Given the description of an element on the screen output the (x, y) to click on. 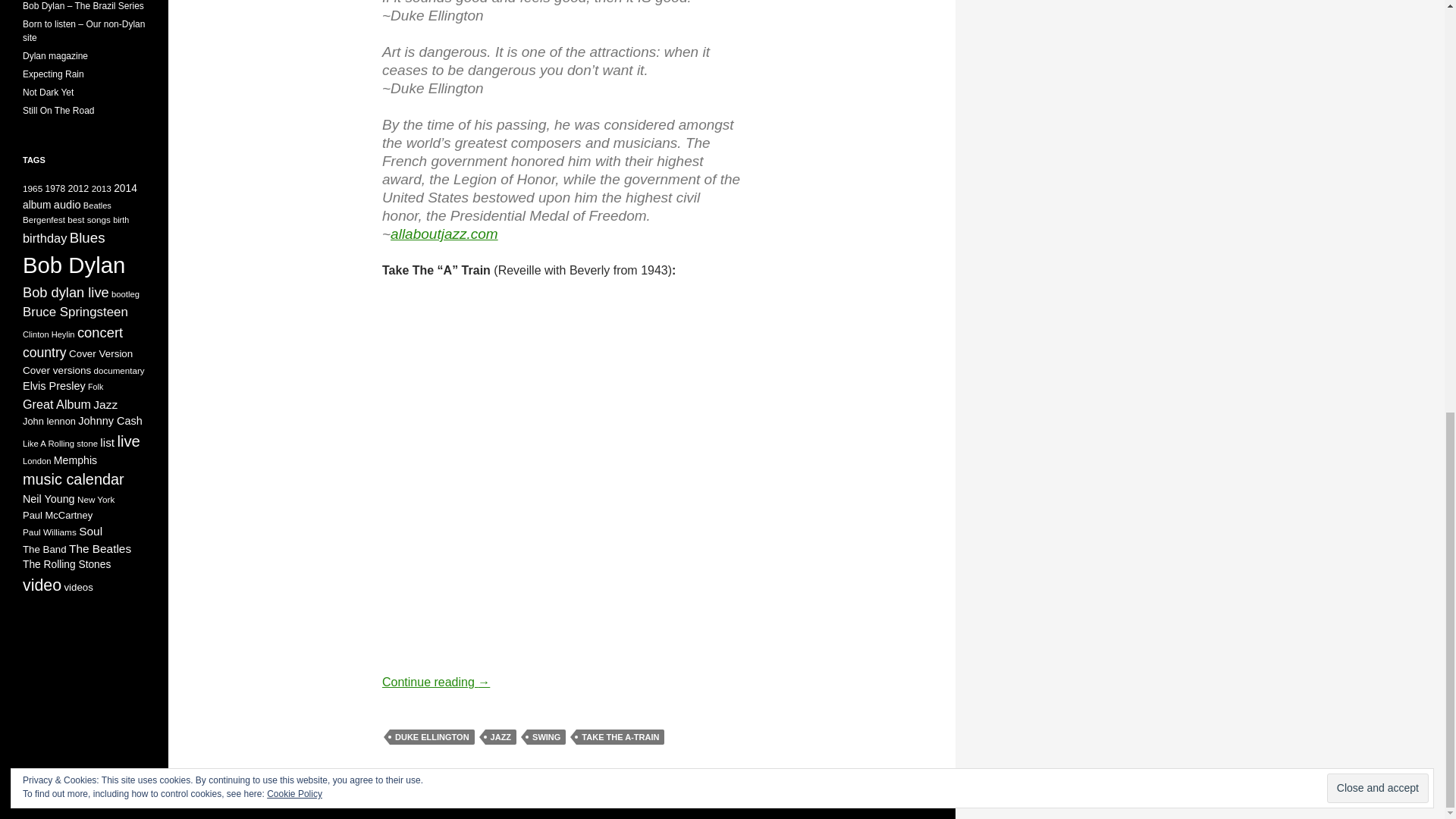
Head over to Born To Listen to check out our non-Dylan stuff (83, 30)
allaboutjazz.com (443, 233)
